Given the description of an element on the screen output the (x, y) to click on. 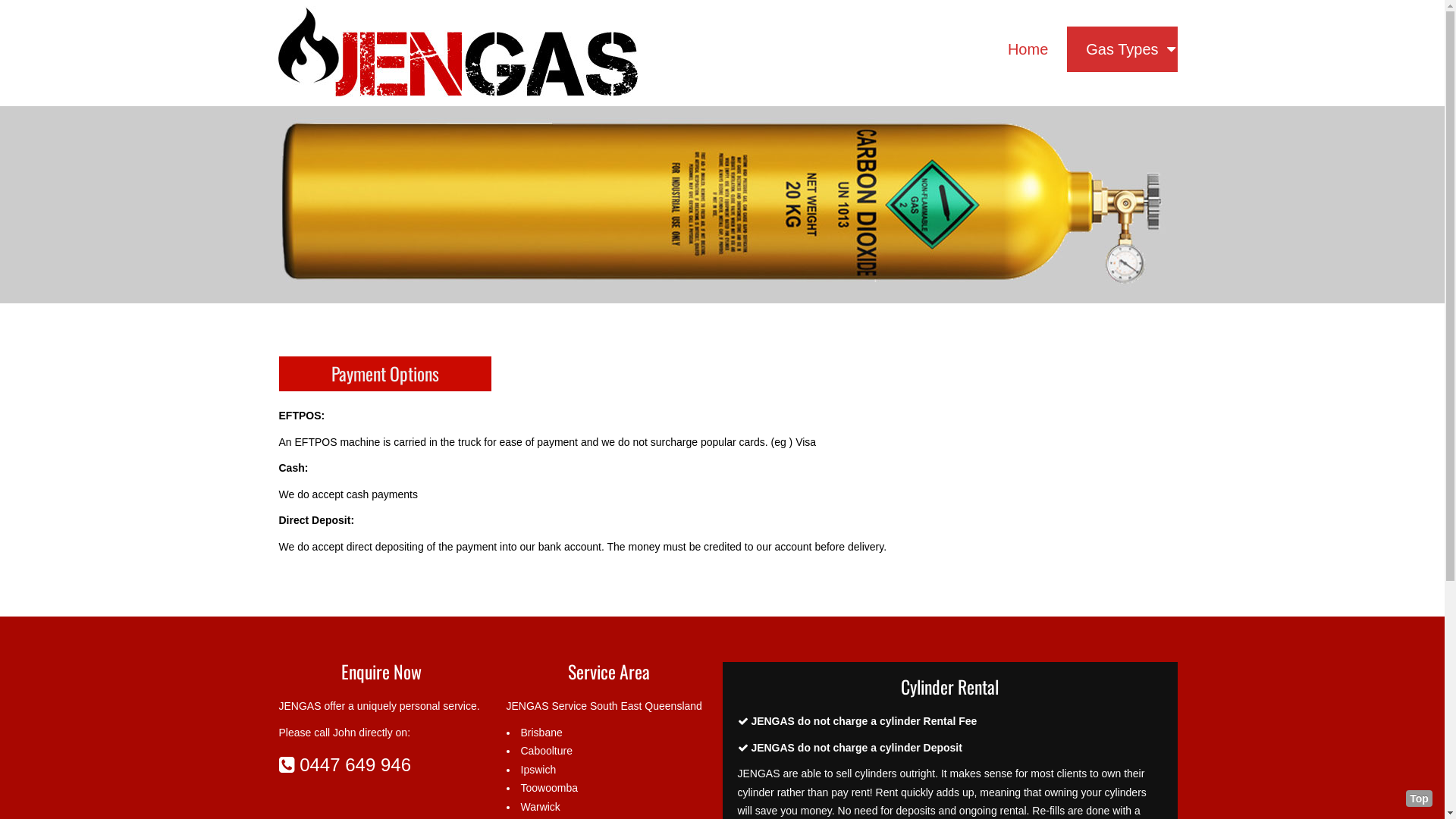
Gas Types Element type: text (1121, 49)
Home Element type: text (1027, 49)
Payment Options Element type: text (384, 373)
0447 649 946 Element type: text (345, 764)
Top Element type: text (1418, 798)
